Given the description of an element on the screen output the (x, y) to click on. 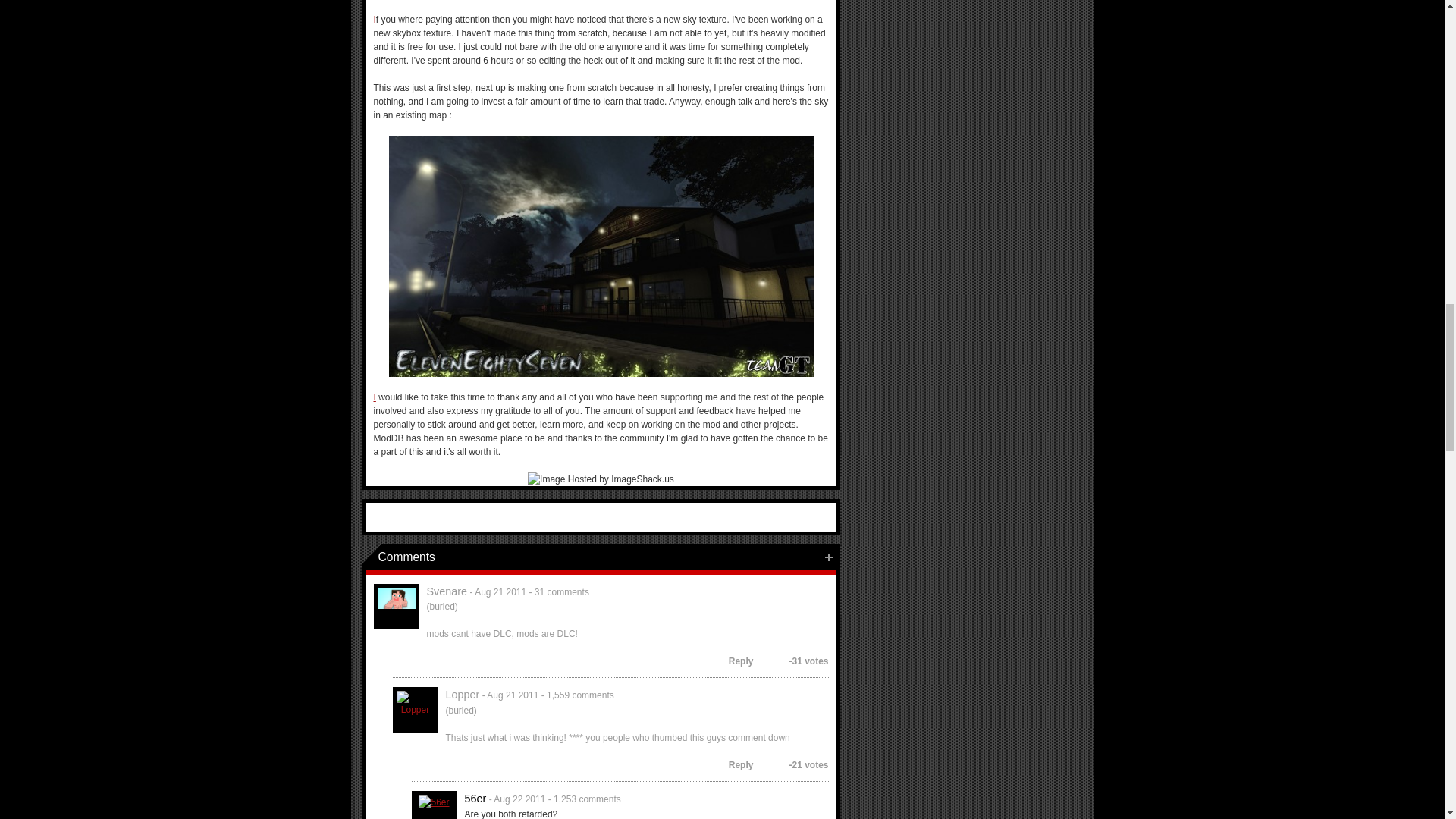
1187 - News images - Mod DB (600, 255)
